Given the description of an element on the screen output the (x, y) to click on. 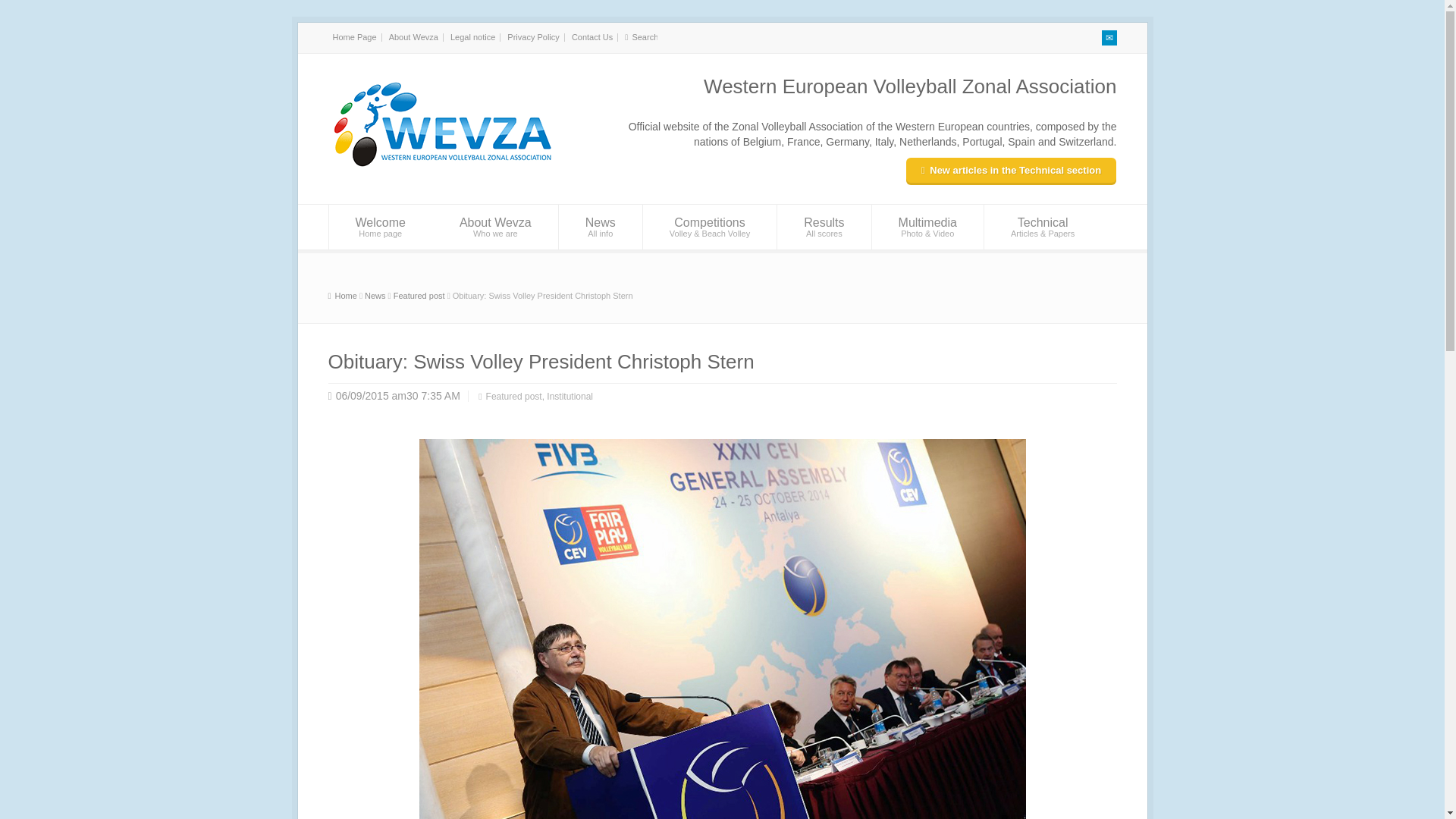
Featured post (419, 295)
News (375, 295)
Home Page (353, 36)
Legal notice (472, 36)
About Wevza (413, 36)
Privacy Policy (532, 36)
Home (341, 295)
Contact Us (380, 226)
WEVZA Volleyball (592, 36)
News (345, 295)
Featured post (494, 226)
Search (600, 226)
